Given the description of an element on the screen output the (x, y) to click on. 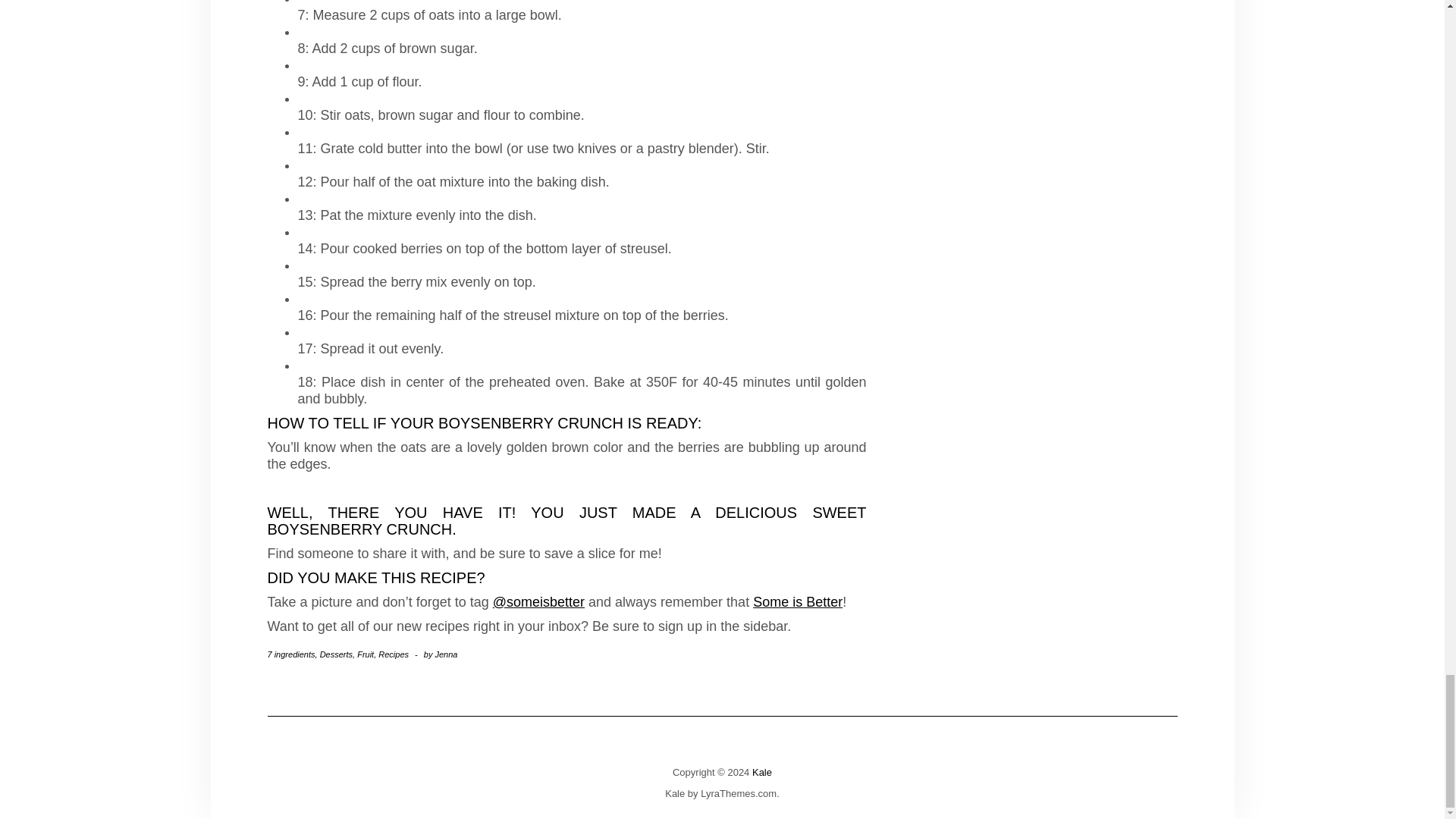
Recipes (393, 654)
Fruit (365, 654)
7 ingredients (290, 654)
Some is Better (797, 601)
Desserts (336, 654)
